Given the description of an element on the screen output the (x, y) to click on. 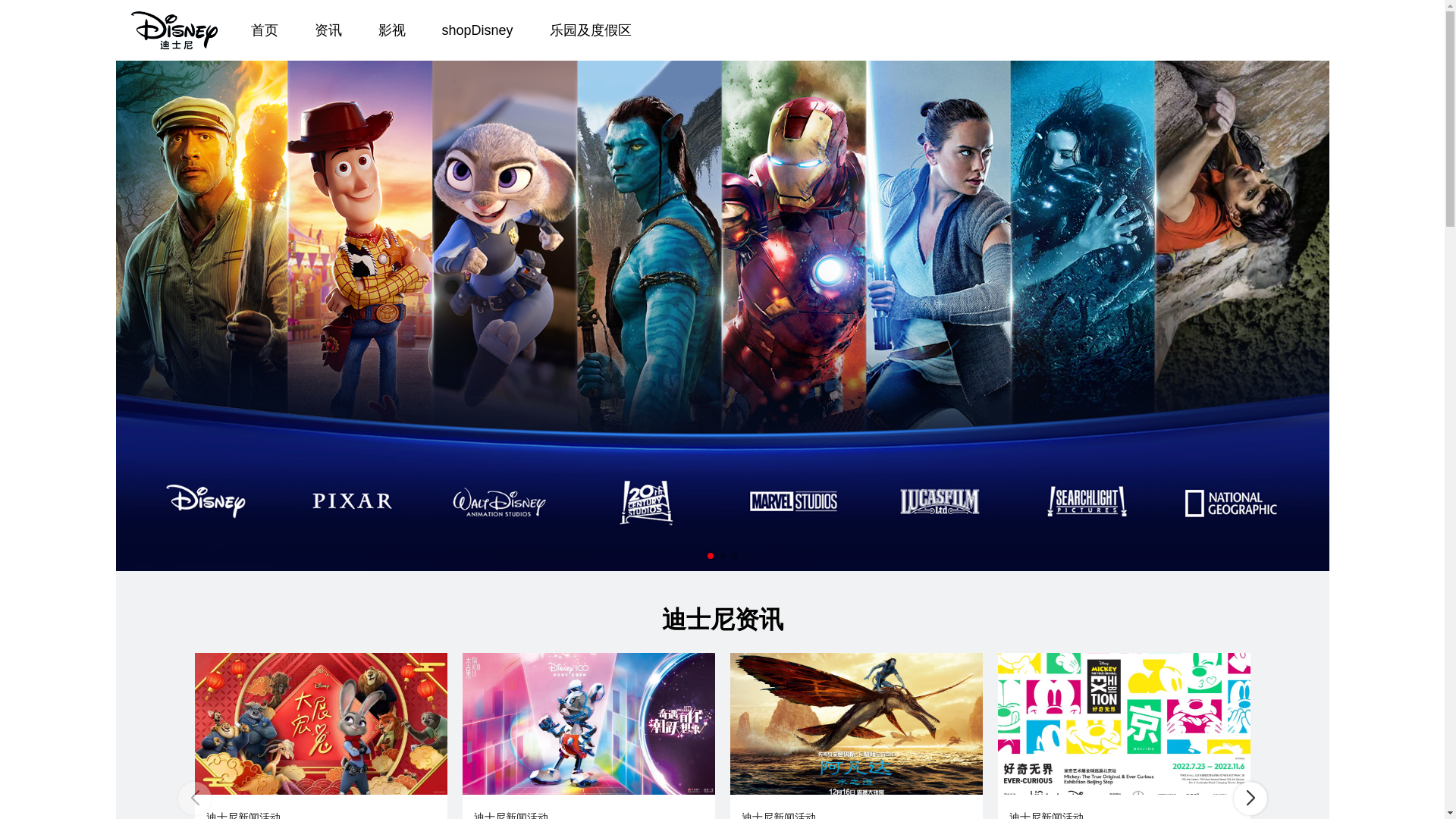
shopDisney (477, 30)
